Given the description of an element on the screen output the (x, y) to click on. 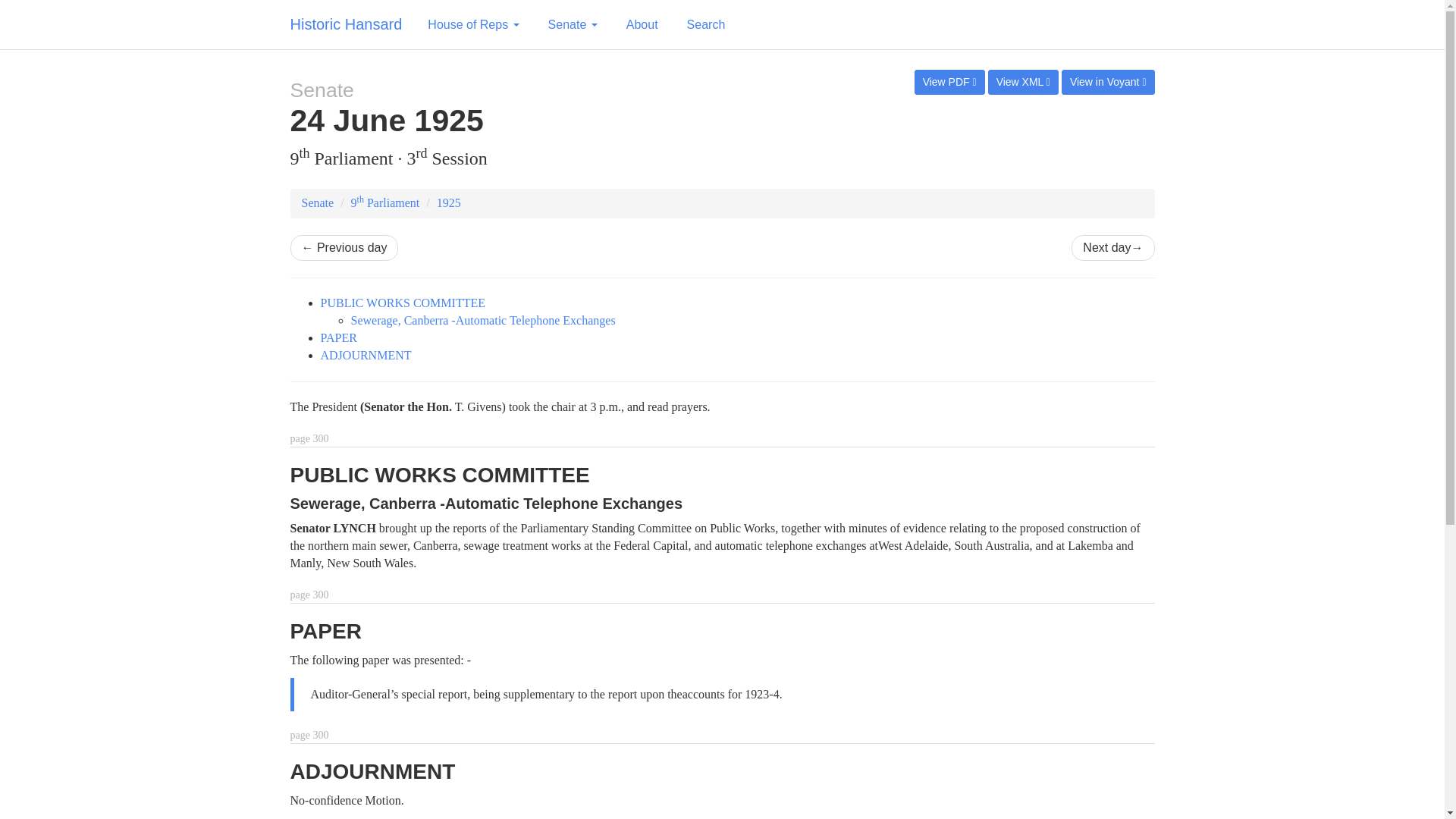
Search (706, 24)
PAPER (338, 337)
Senate (317, 202)
9th Parliament (385, 202)
View PDF (949, 82)
PUBLIC WORKS COMMITTEE (402, 302)
Sewerage, Canberra -Automatic Telephone Exchanges (482, 319)
View XML (1023, 82)
House of Reps (472, 24)
About (641, 24)
